Given the description of an element on the screen output the (x, y) to click on. 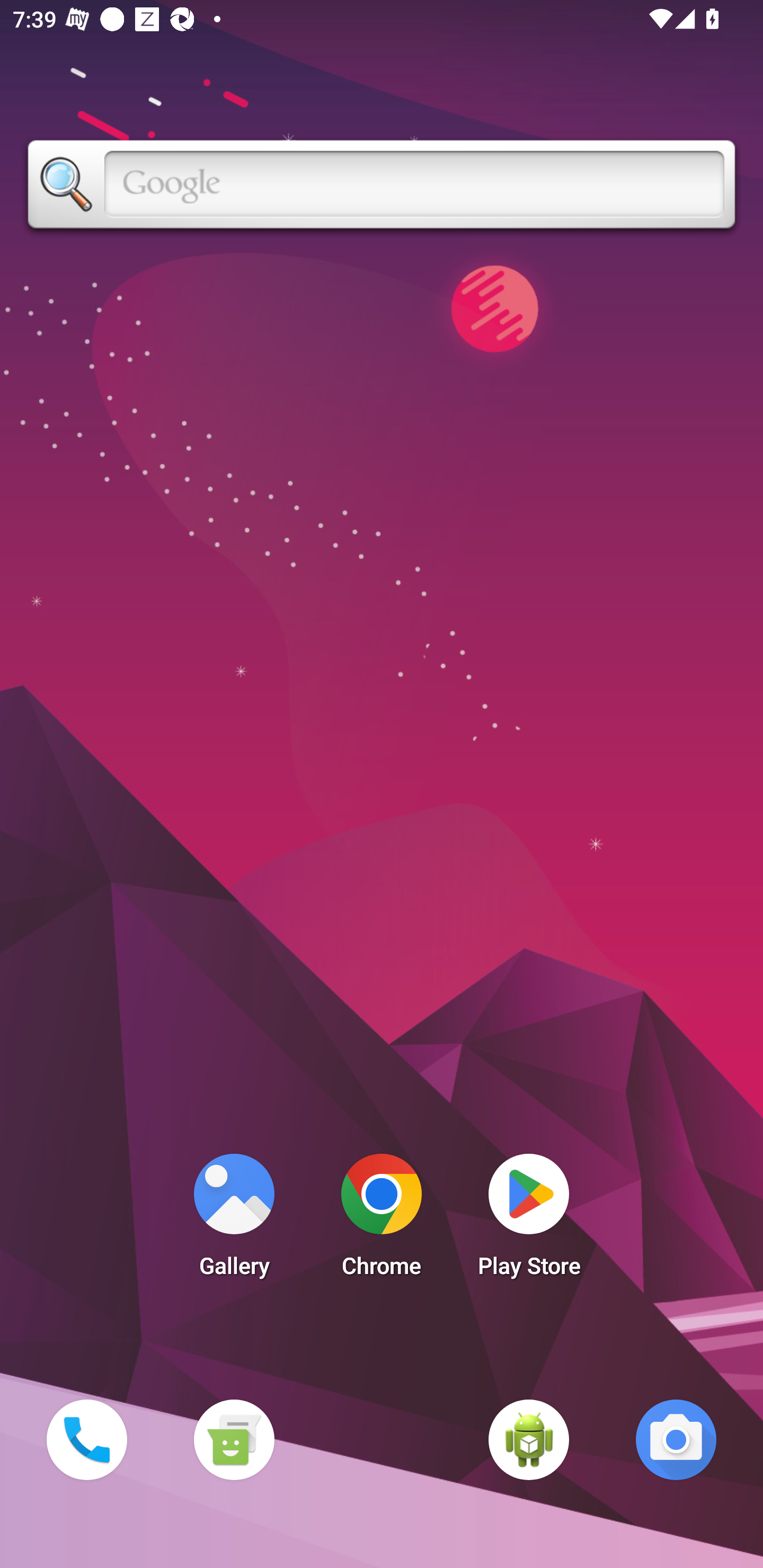
Gallery (233, 1220)
Chrome (381, 1220)
Play Store (528, 1220)
Phone (86, 1439)
Messaging (233, 1439)
WebView Browser Tester (528, 1439)
Camera (676, 1439)
